Given the description of an element on the screen output the (x, y) to click on. 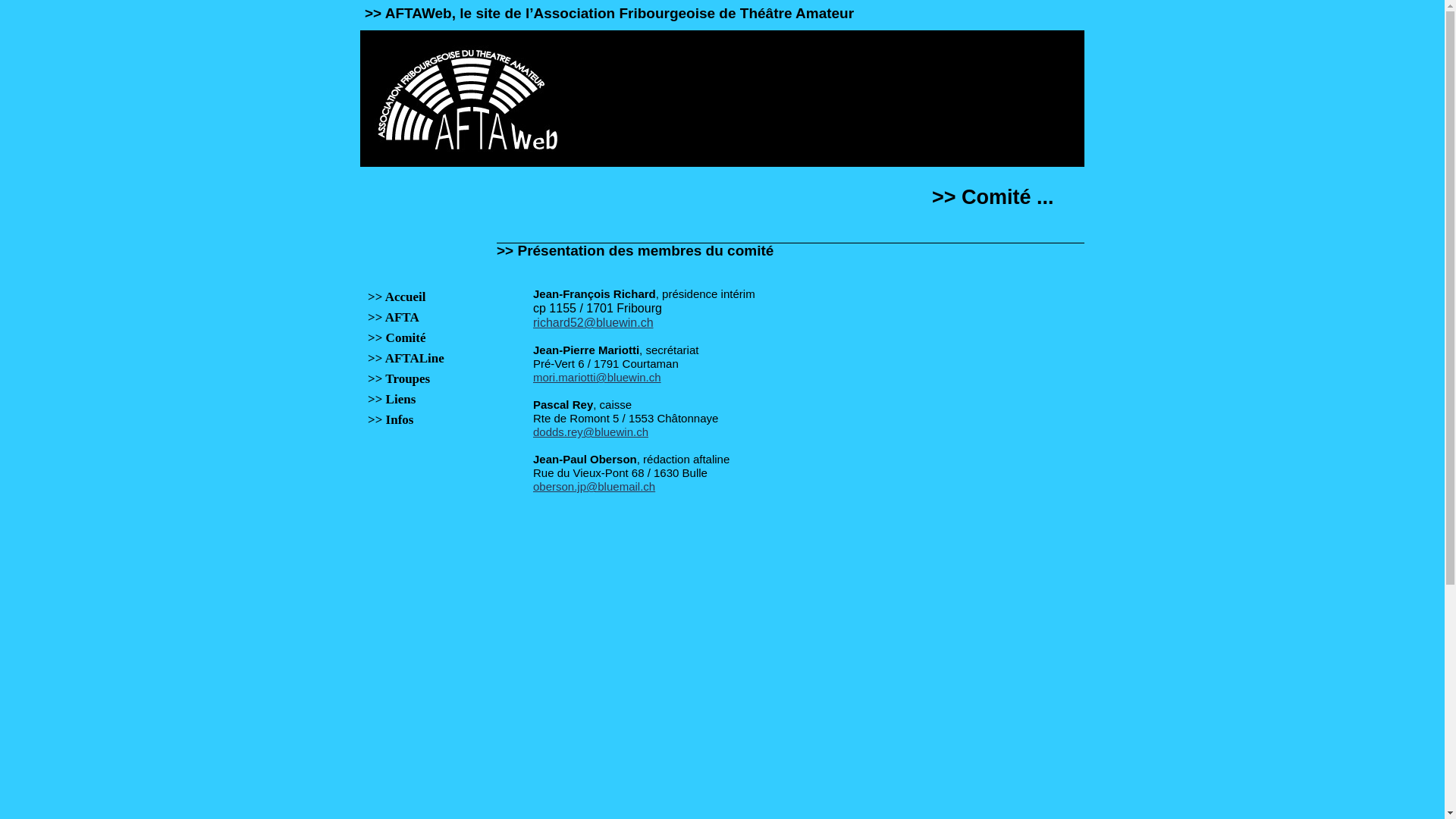
mori.mariotti@bluewin.ch Element type: text (597, 376)
richard52@bluewin.ch Element type: text (593, 322)
>> Liens Element type: text (419, 399)
>> AFTALine Element type: text (419, 358)
>> Troupes Element type: text (419, 379)
>> AFTA Element type: text (419, 317)
dodds.rey@bluewin.ch Element type: text (590, 431)
>> Accueil Element type: text (419, 297)
oberson.jp@bluemail.ch Element type: text (594, 486)
>> Infos Element type: text (419, 420)
